Given the description of an element on the screen output the (x, y) to click on. 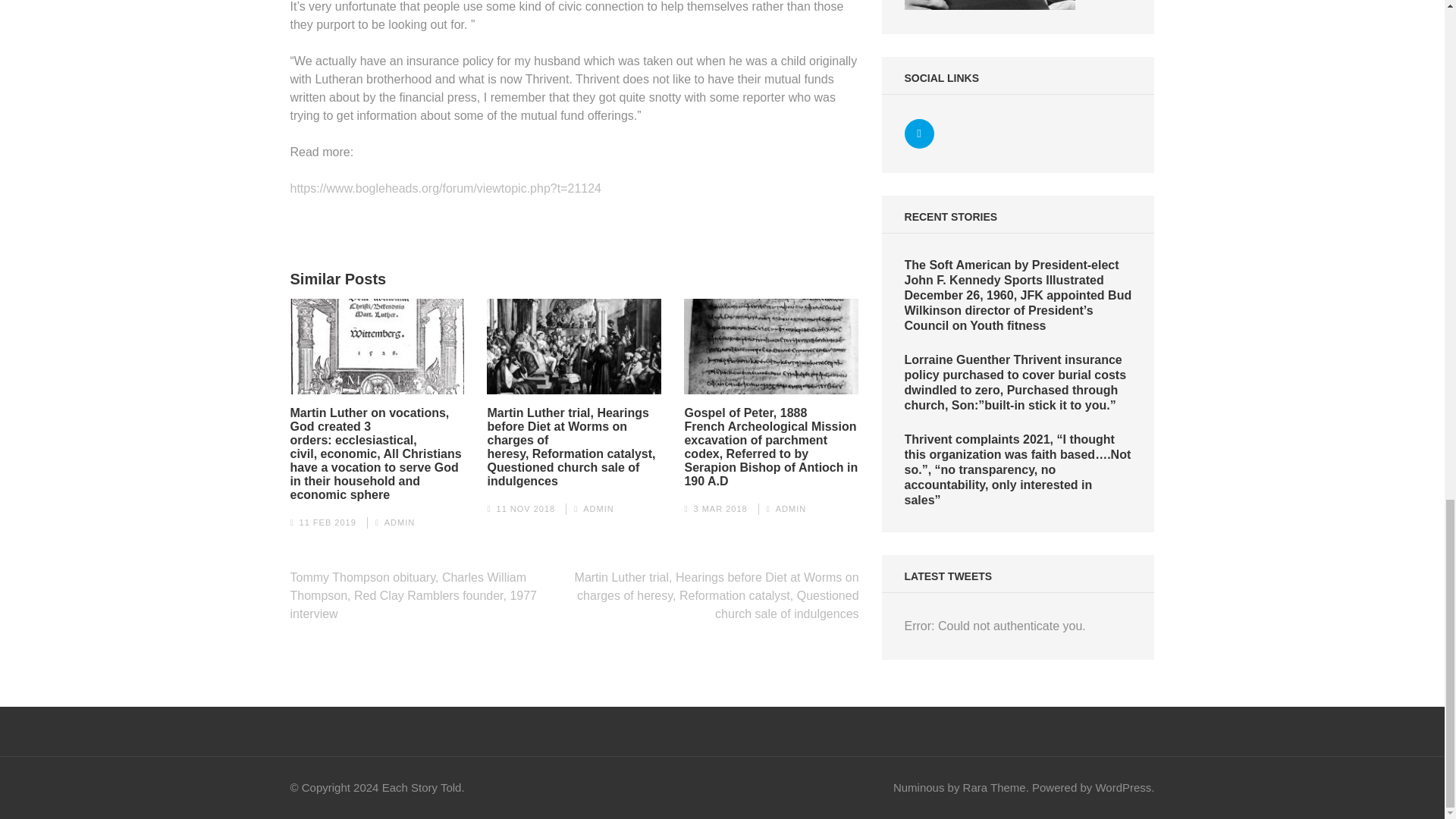
11 FEB 2019 (327, 522)
Twitter (919, 133)
WordPress (1122, 786)
ADMIN (399, 522)
ADMIN (597, 508)
3 MAR 2018 (719, 508)
ADMIN (791, 508)
Numinous by Rara Theme (959, 786)
Each Story Told (421, 786)
11 NOV 2018 (526, 508)
